Given the description of an element on the screen output the (x, y) to click on. 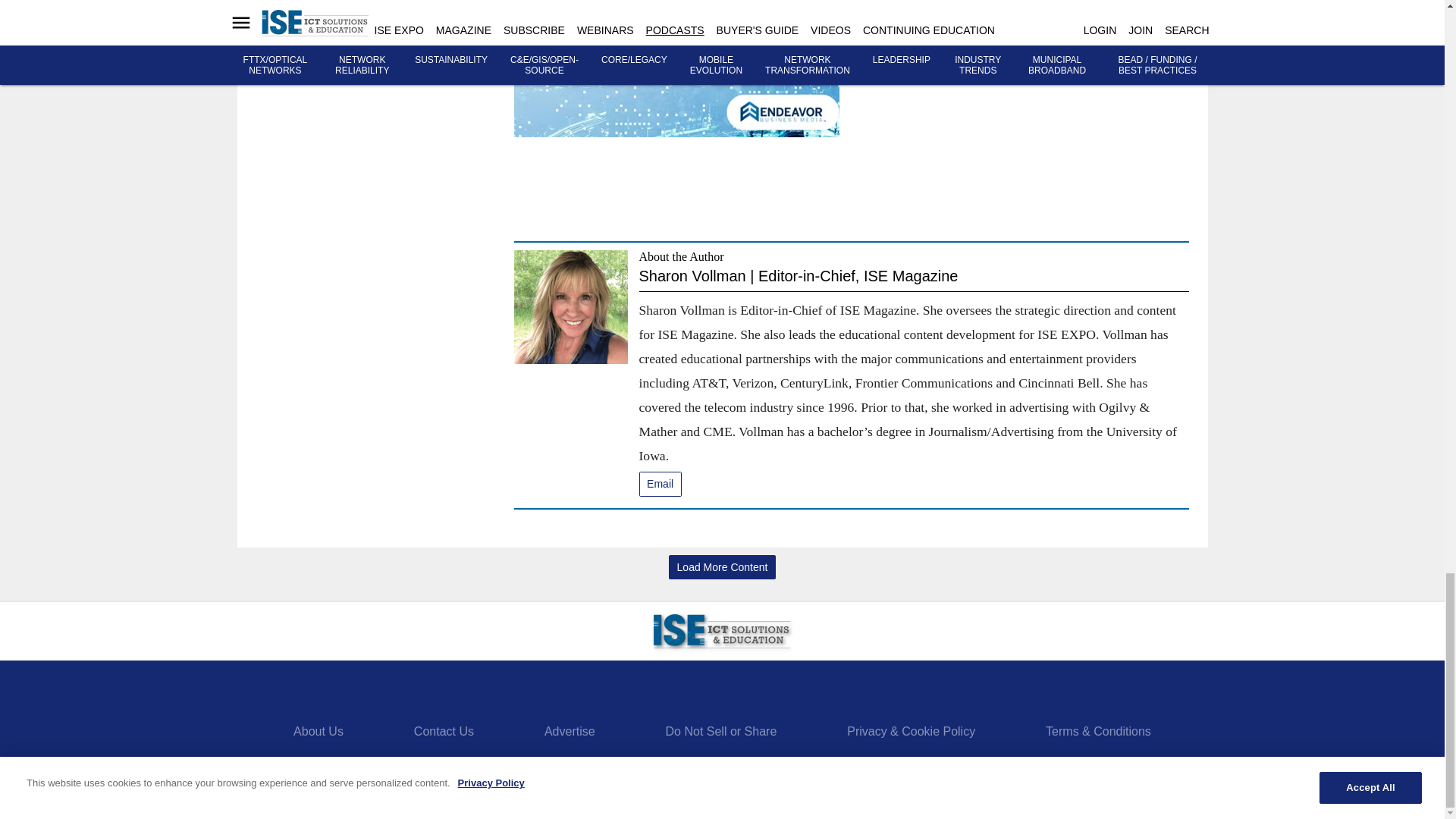
Ise Podcast Tile 05 03 23 (676, 68)
